Given the description of an element on the screen output the (x, y) to click on. 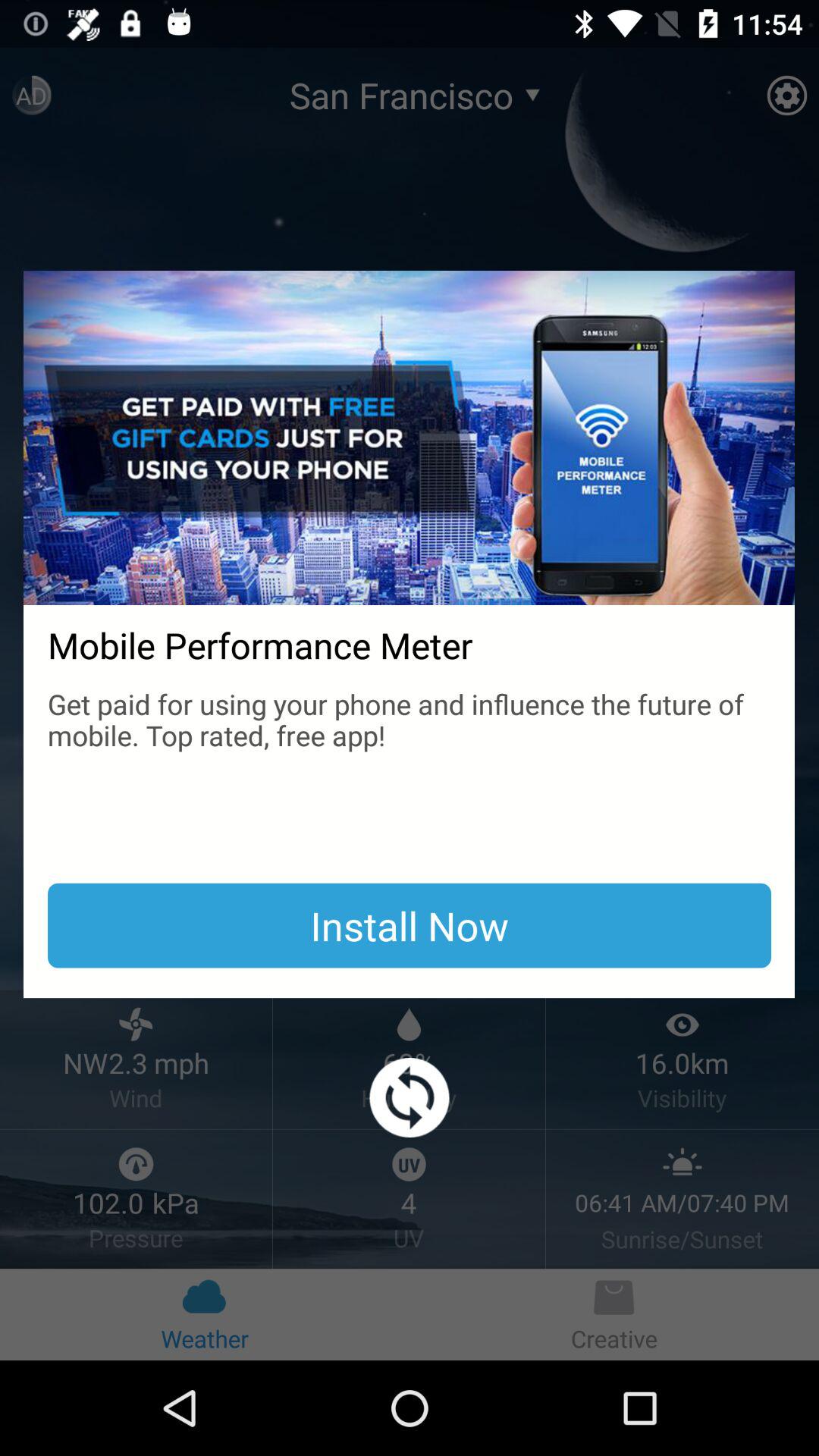
open item below install now (409, 1097)
